Given the description of an element on the screen output the (x, y) to click on. 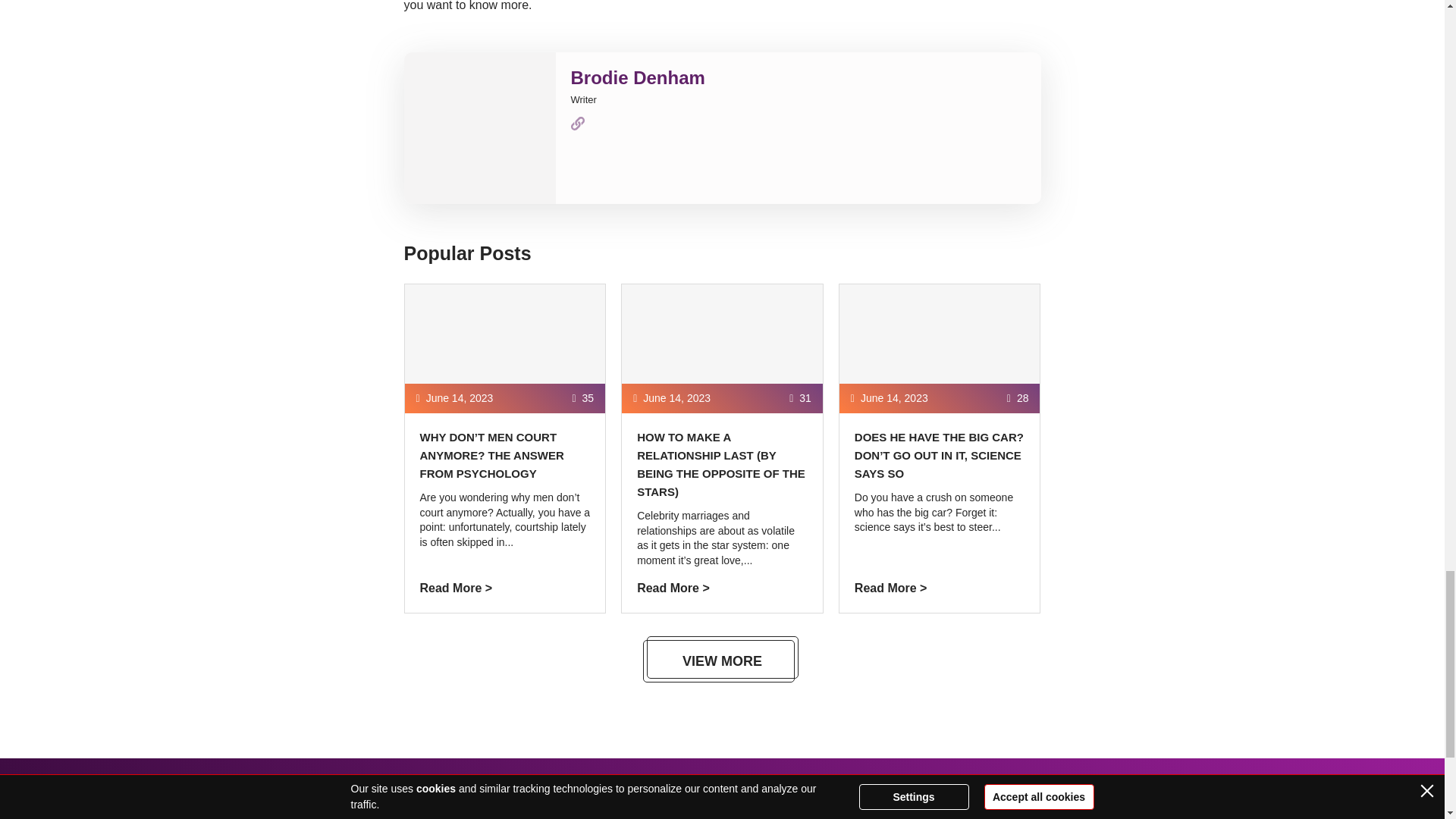
Singlelifecoach (501, 807)
VIEW MORE (721, 660)
Brodie Denham (637, 77)
